Given the description of an element on the screen output the (x, y) to click on. 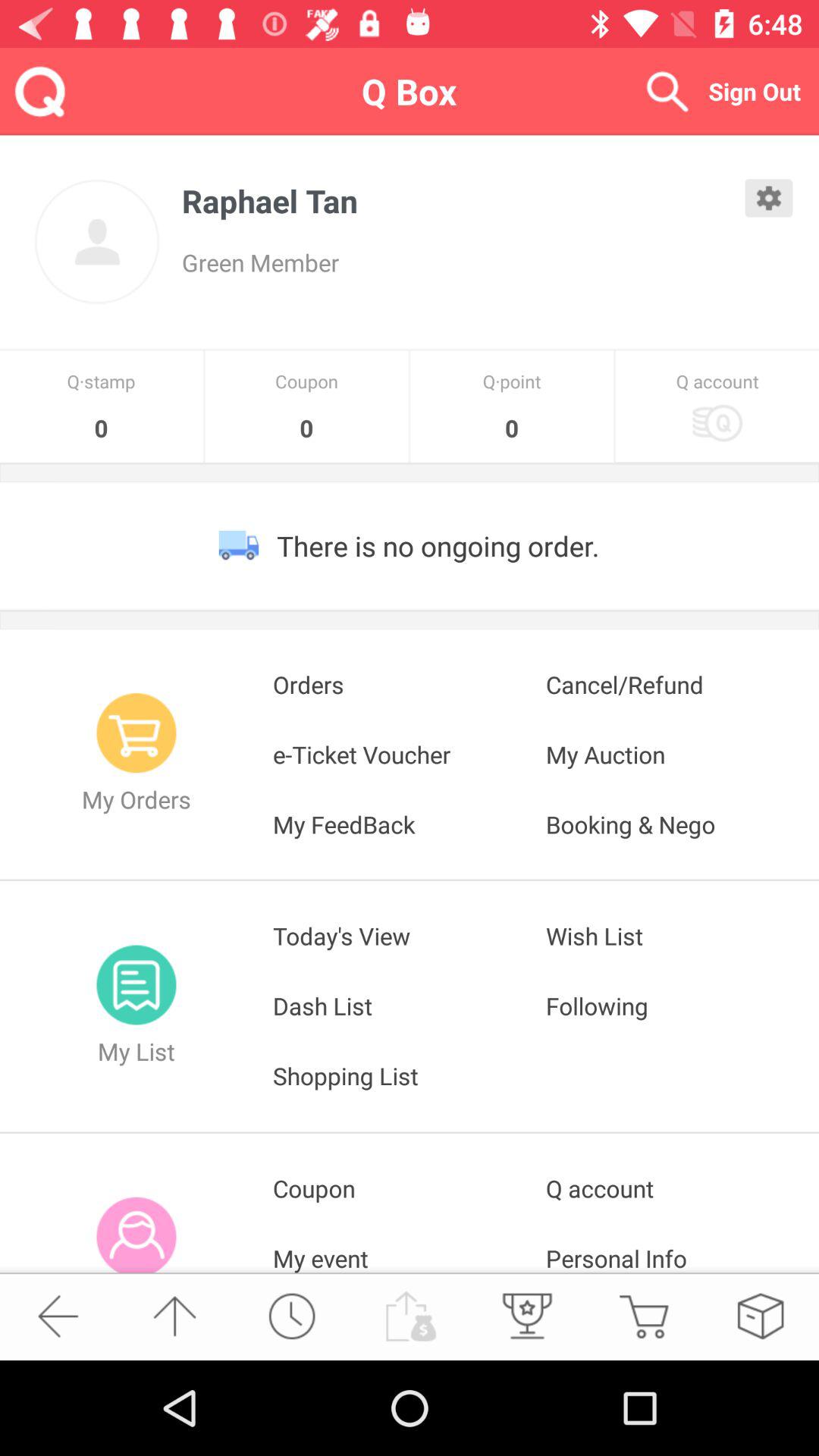
open the item below the personal info app (760, 1316)
